Given the description of an element on the screen output the (x, y) to click on. 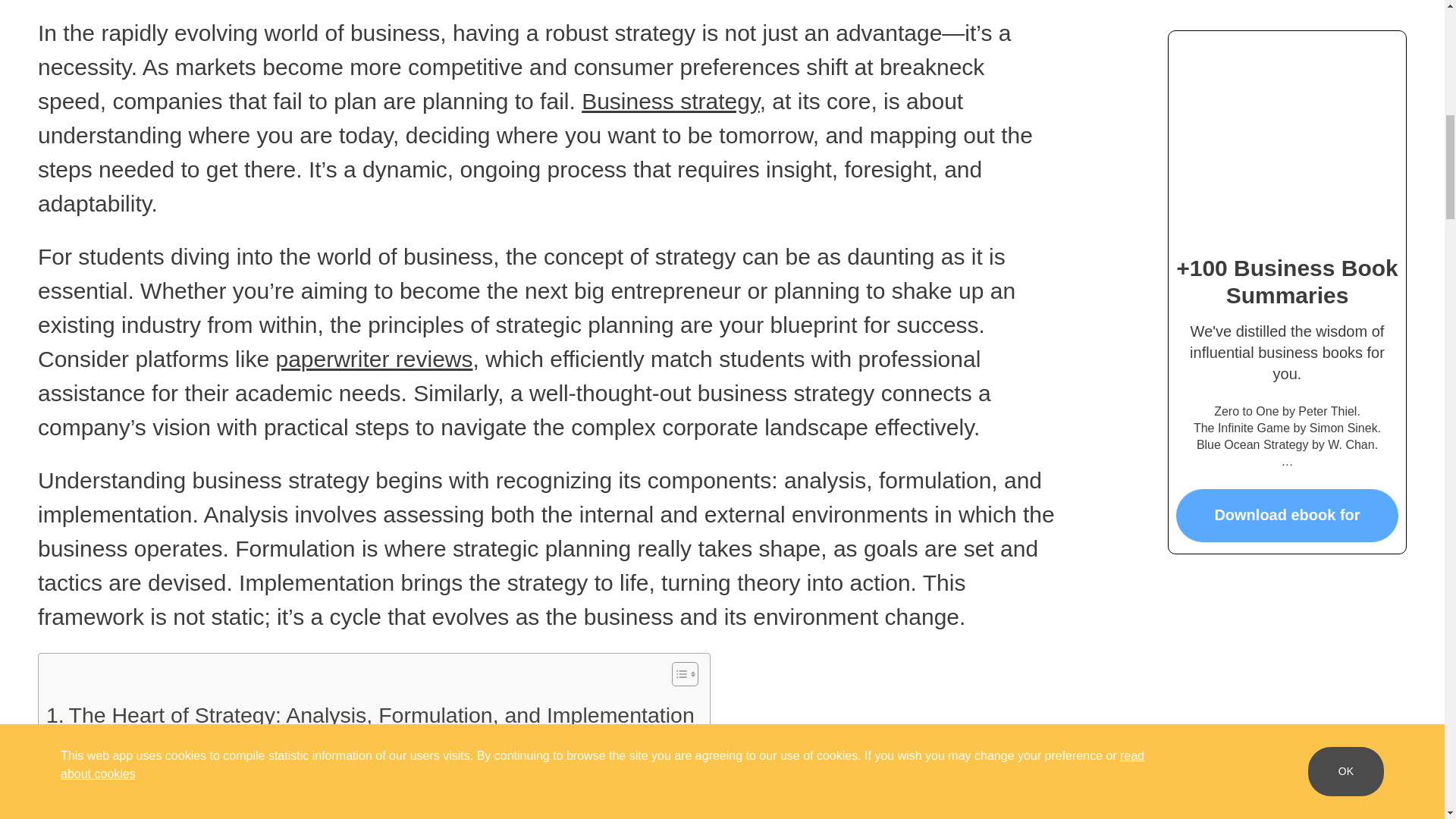
Download ebook for free (1286, 501)
Analysis: Understanding Your Battlefield (279, 749)
Formulation: Setting Your Course (248, 781)
Implementation: Bringing Your Strategy to Life (306, 808)
Analysis: Understanding Your Battlefield (279, 749)
paperwriter reviews (373, 358)
Business strategy (670, 100)
Formulation: Setting Your Course (248, 781)
